Given the description of an element on the screen output the (x, y) to click on. 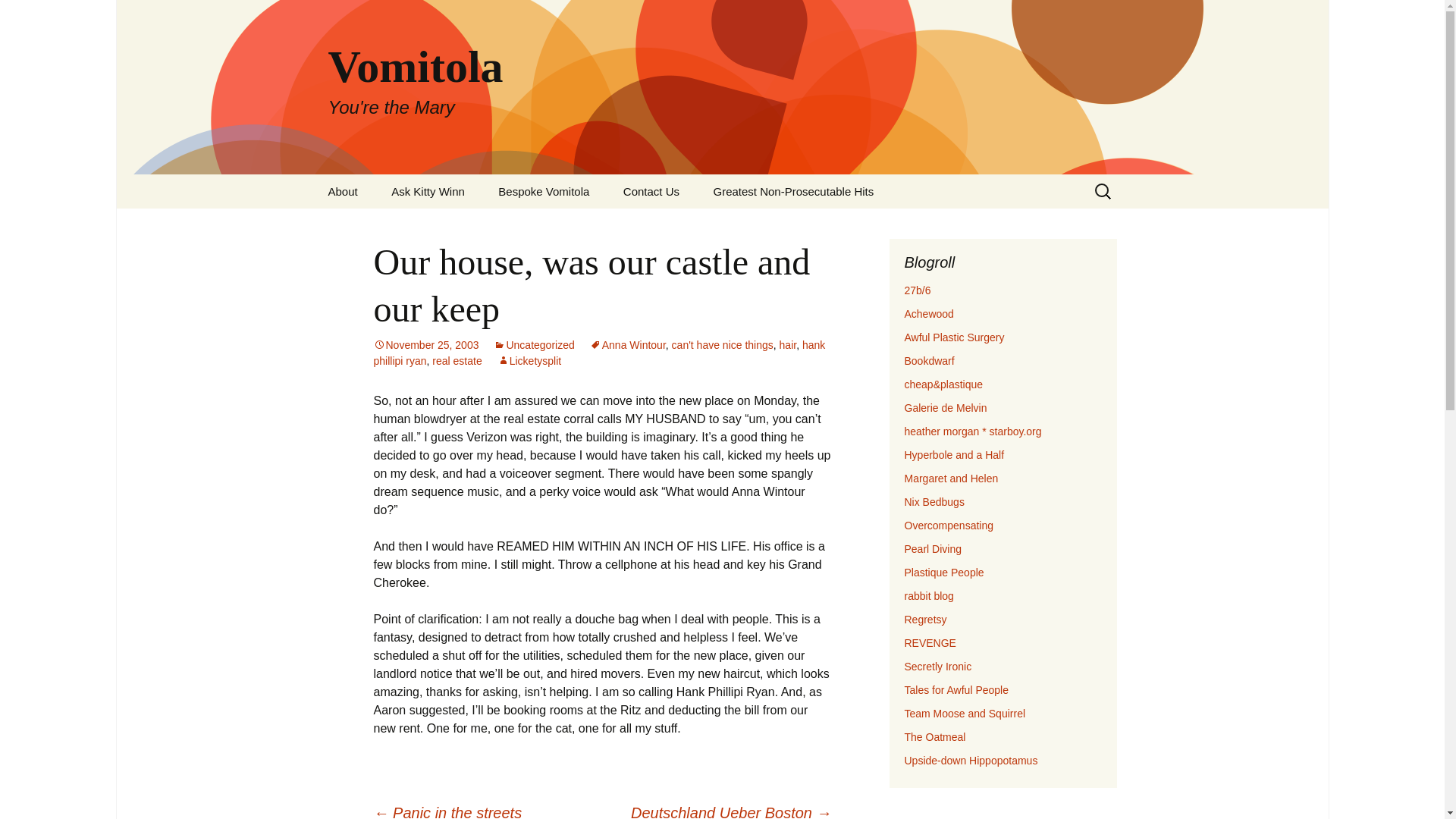
fabulous fabulations (972, 431)
hair (528, 360)
About (787, 345)
can't have nice things (342, 191)
velociraptors, pirates, sharks and boats (722, 345)
Been bedbuggered? (954, 454)
Bespoke Vomitola (933, 501)
Hyperbole and a Half (543, 191)
November 25, 2003 (954, 454)
Team Moose and Squirrel (425, 345)
Melvin, a beagle who speaks French (964, 713)
Permalink to Our house, was our castle and our keep (945, 408)
Search (425, 345)
